Given the description of an element on the screen output the (x, y) to click on. 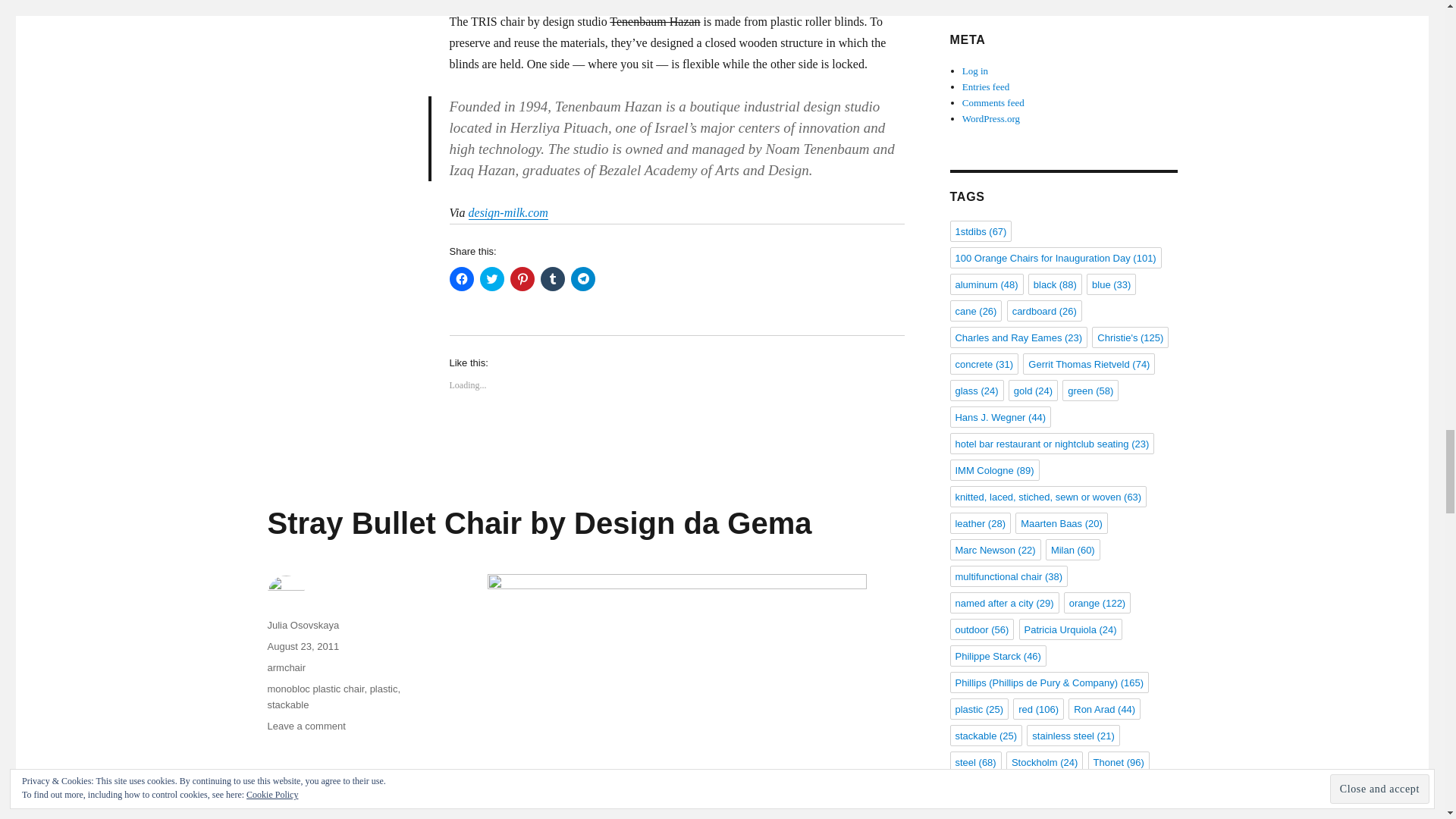
design-milk.com (508, 212)
